Given the description of an element on the screen output the (x, y) to click on. 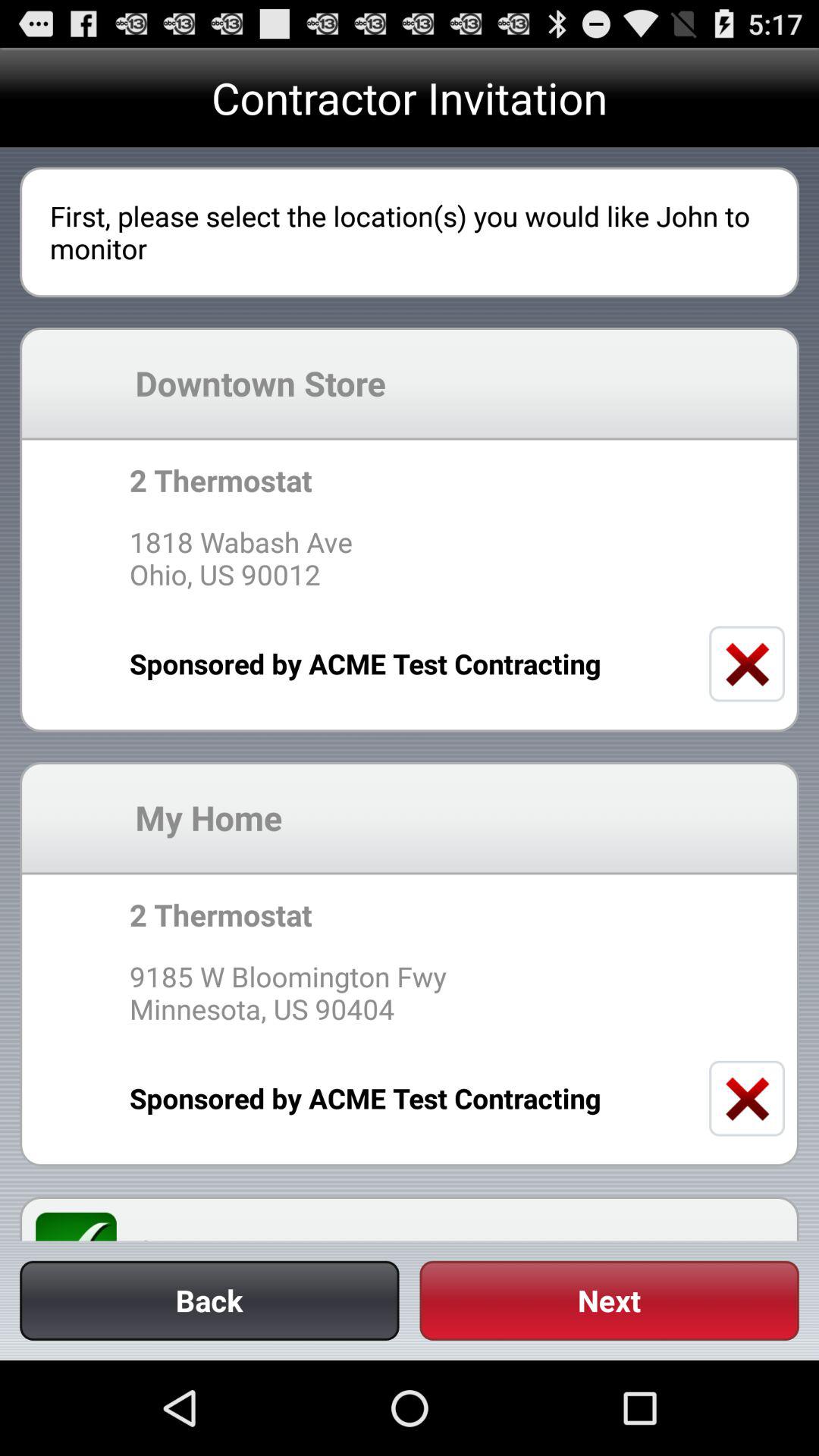
tap icon to the right of back icon (609, 1300)
